Given the description of an element on the screen output the (x, y) to click on. 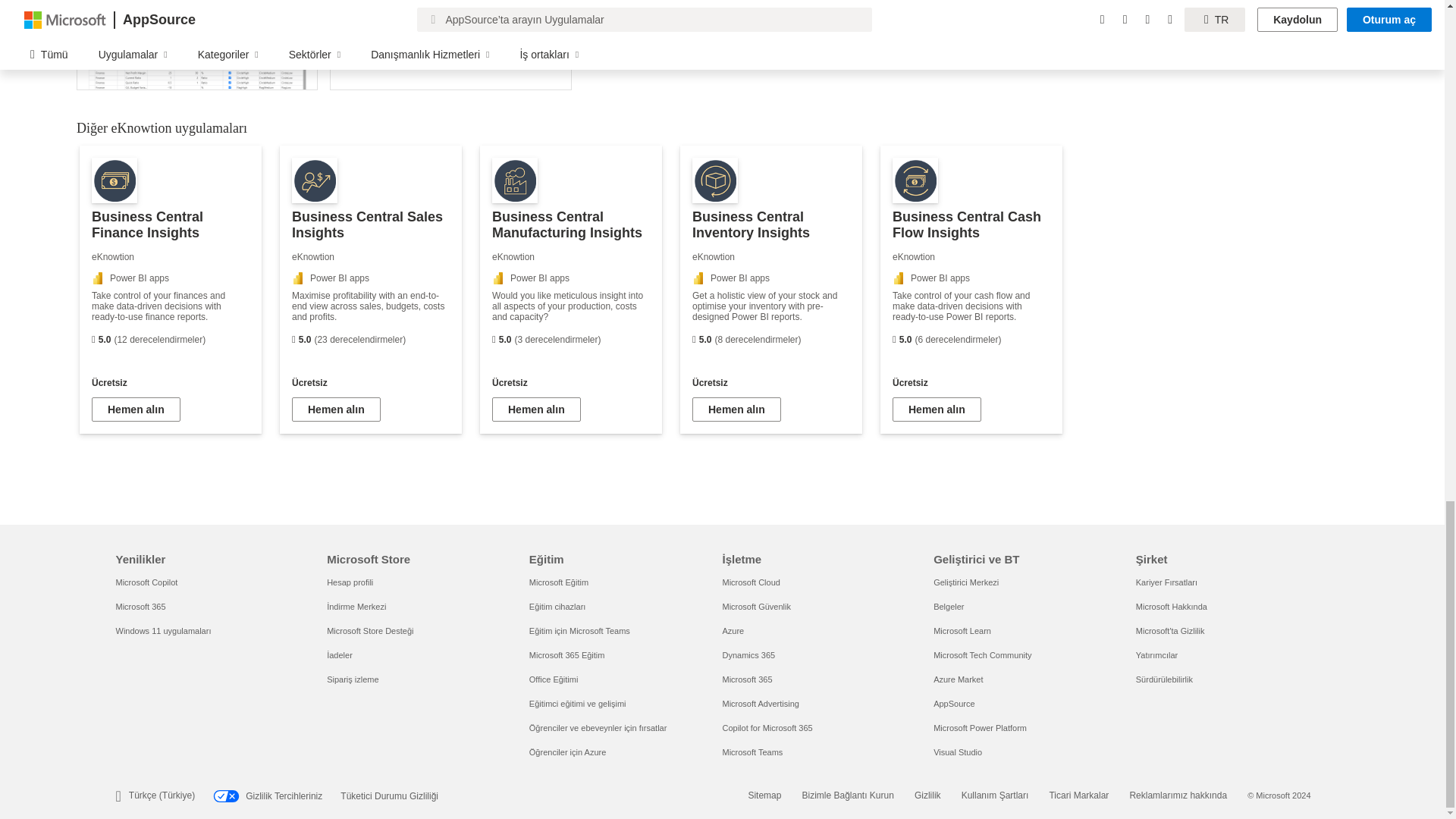
Business Central Cash Flow Insights (971, 289)
derecelendirmeler (293, 339)
Business Central Manufacturing Insights (571, 289)
Microsoft Copilot (146, 582)
Microsoft 365 (140, 605)
derecelendirmeler (93, 339)
Business Central Sales Insights (370, 289)
derecelendirmeler (694, 339)
derecelendirmeler (894, 339)
derecelendirmeler (494, 339)
Business Central Inventory Insights (770, 289)
Business Central Finance Insights (171, 289)
